Given the description of an element on the screen output the (x, y) to click on. 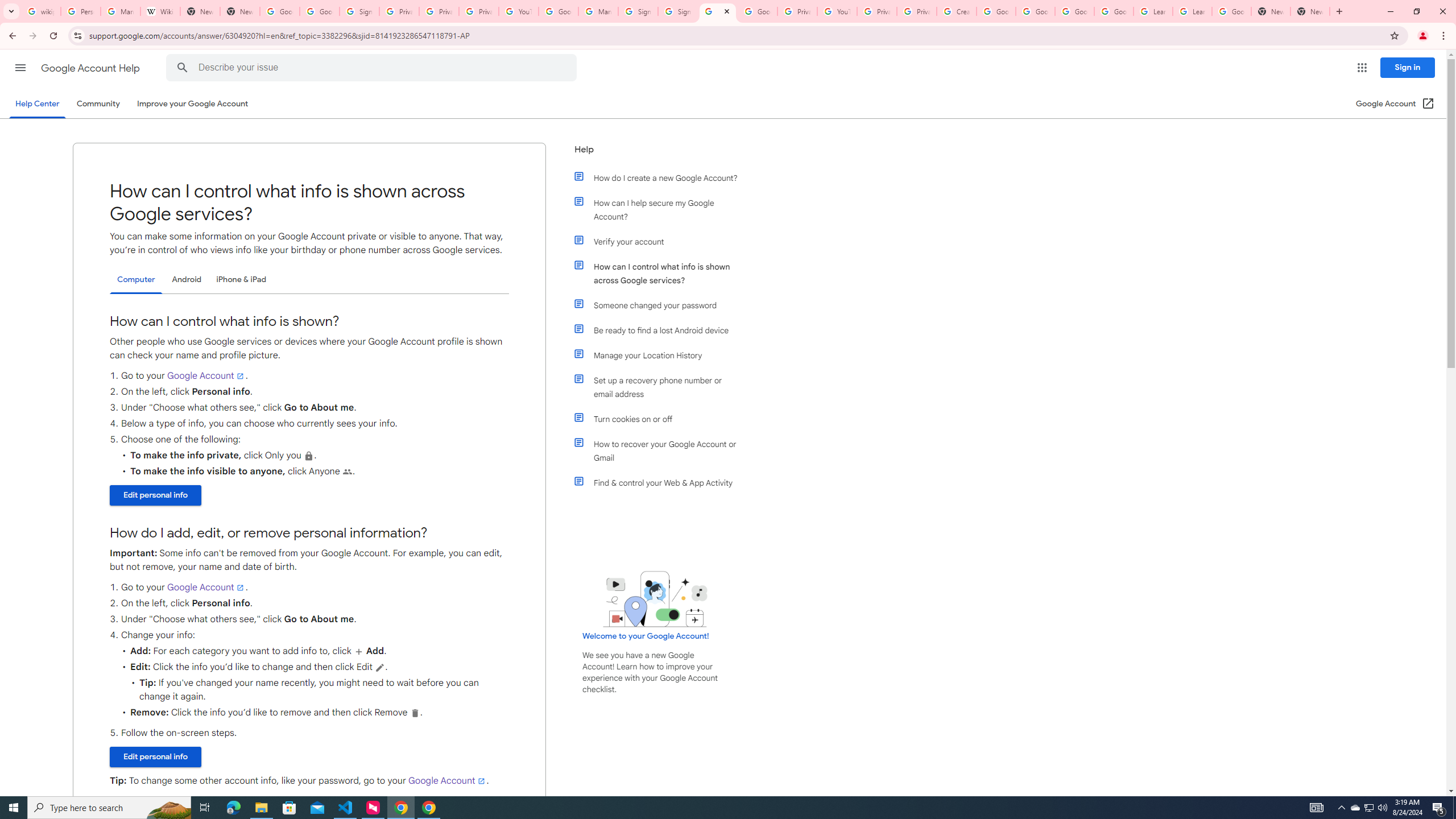
How to recover your Google Account or Gmail (661, 450)
Manage your Location History (661, 355)
Find & control your Web & App Activity (661, 482)
Add user (358, 651)
